Given the description of an element on the screen output the (x, y) to click on. 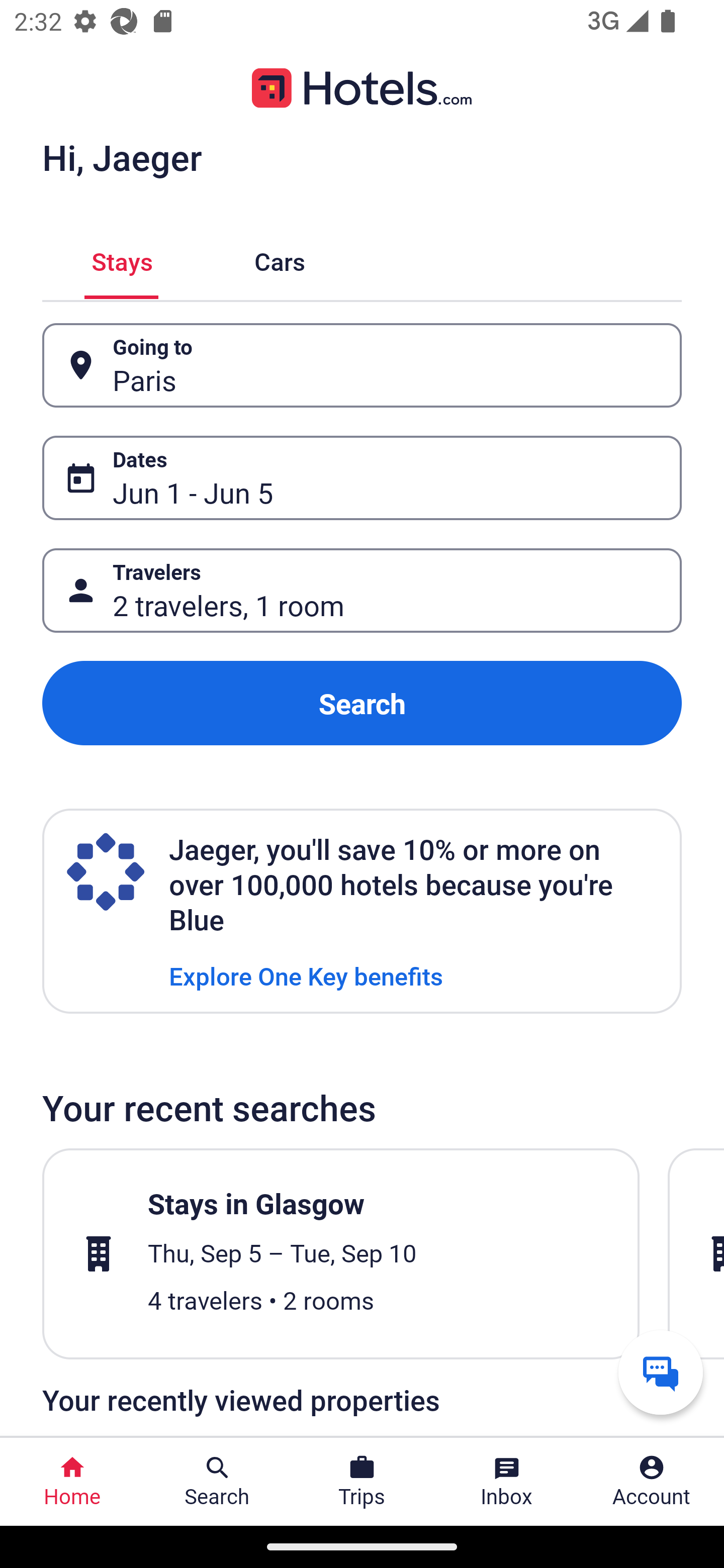
Hi, Jaeger (121, 156)
Cars (279, 259)
Going to Button Paris (361, 365)
Dates Button Jun 1 - Jun 5 (361, 477)
Travelers Button 2 travelers, 1 room (361, 590)
Search (361, 702)
Get help from a virtual agent (660, 1371)
Search Search Button (216, 1481)
Trips Trips Button (361, 1481)
Inbox Inbox Button (506, 1481)
Account Profile. Button (651, 1481)
